Given the description of an element on the screen output the (x, y) to click on. 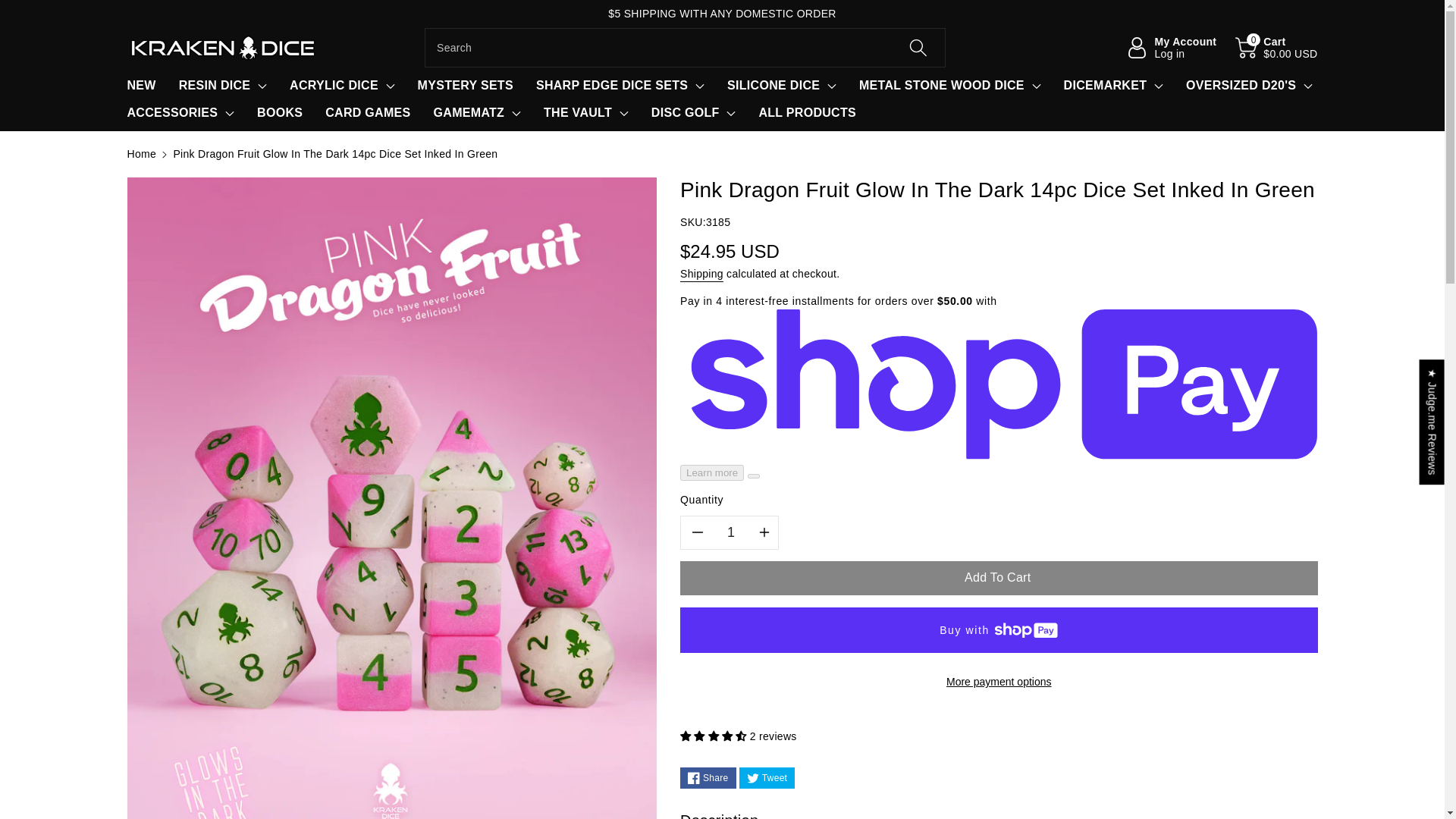
Skip To Content (8, 8)
Home (142, 153)
1 (731, 532)
